Given the description of an element on the screen output the (x, y) to click on. 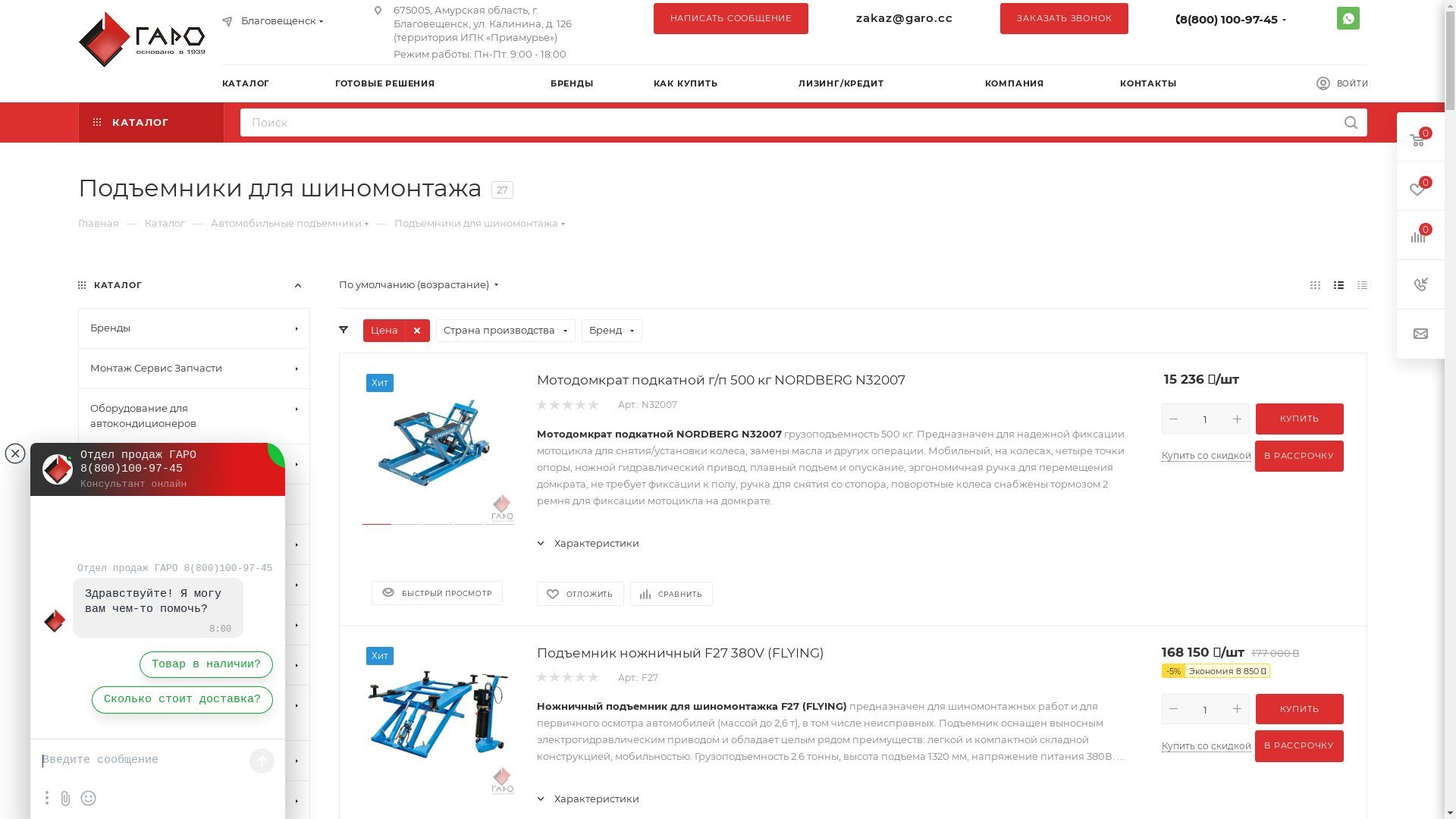
8(800) 100-97-45 Element type: text (1228, 19)
WhatsApp Element type: text (1347, 17)
garo.cc Element type: hover (145, 39)
zakaz@garo.cc Element type: text (904, 17)
